Given the description of an element on the screen output the (x, y) to click on. 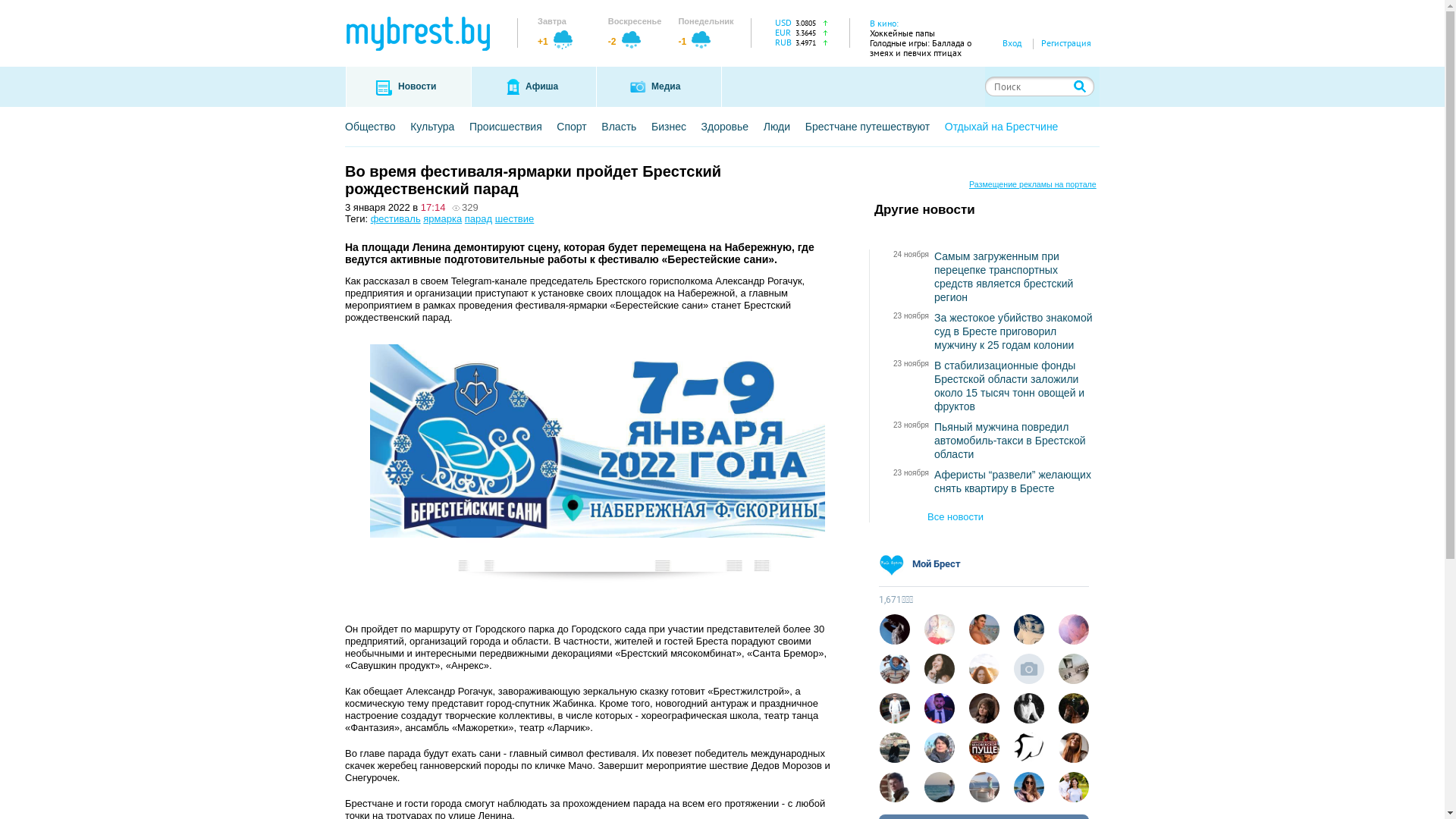
photo_2022-01-03_13-52-51.jpg Element type: hover (597, 463)
